Given the description of an element on the screen output the (x, y) to click on. 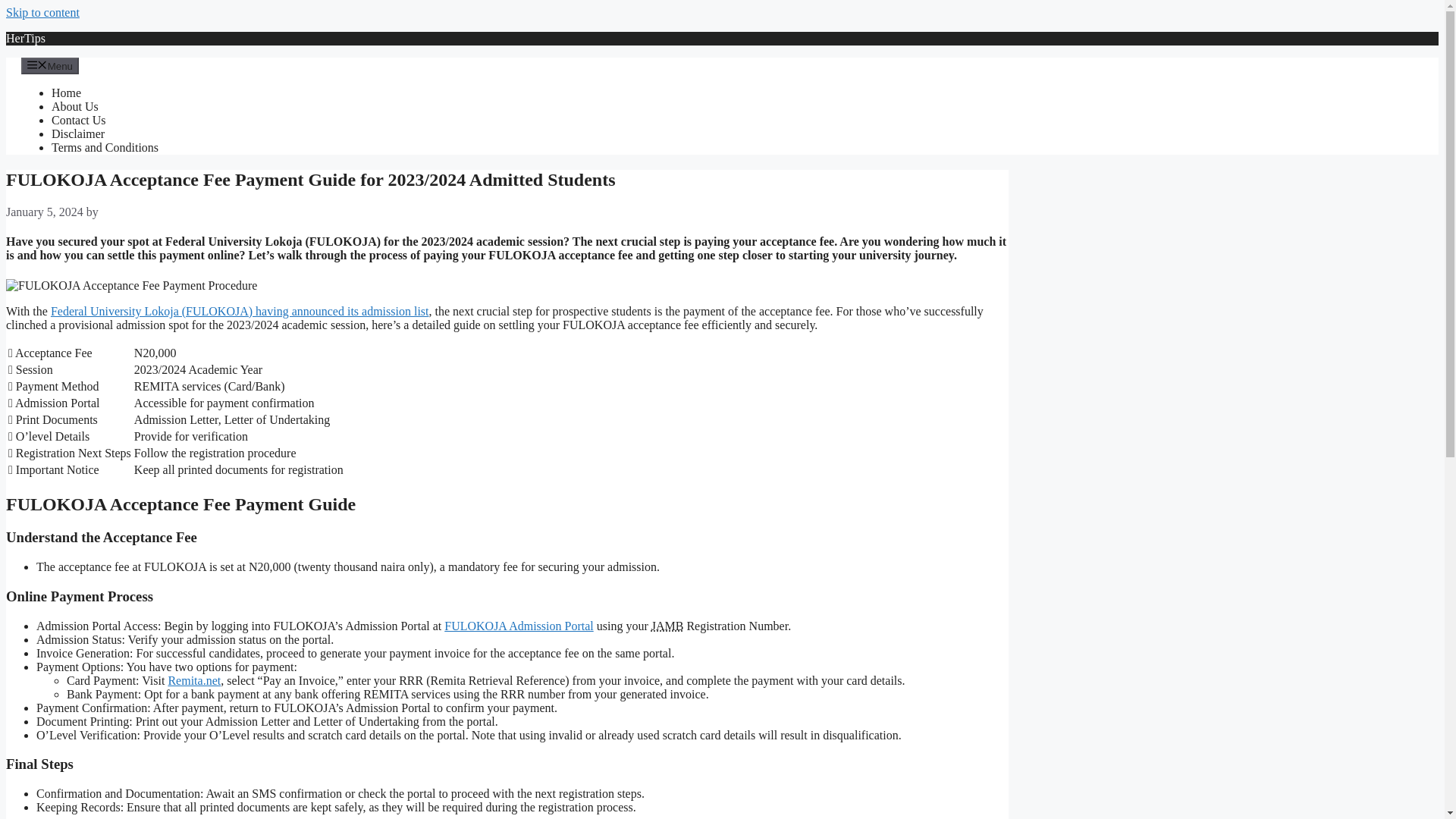
Menu (49, 65)
FULOKOJA Admission Portal (518, 625)
Contact Us (78, 119)
Disclaimer (77, 133)
Remita.net (194, 680)
Terms and Conditions (104, 146)
Skip to content (42, 11)
HerTips (25, 38)
Home (65, 92)
About Us (74, 106)
Joint Admissions and Matriculation Board (667, 625)
Skip to content (42, 11)
